Given the description of an element on the screen output the (x, y) to click on. 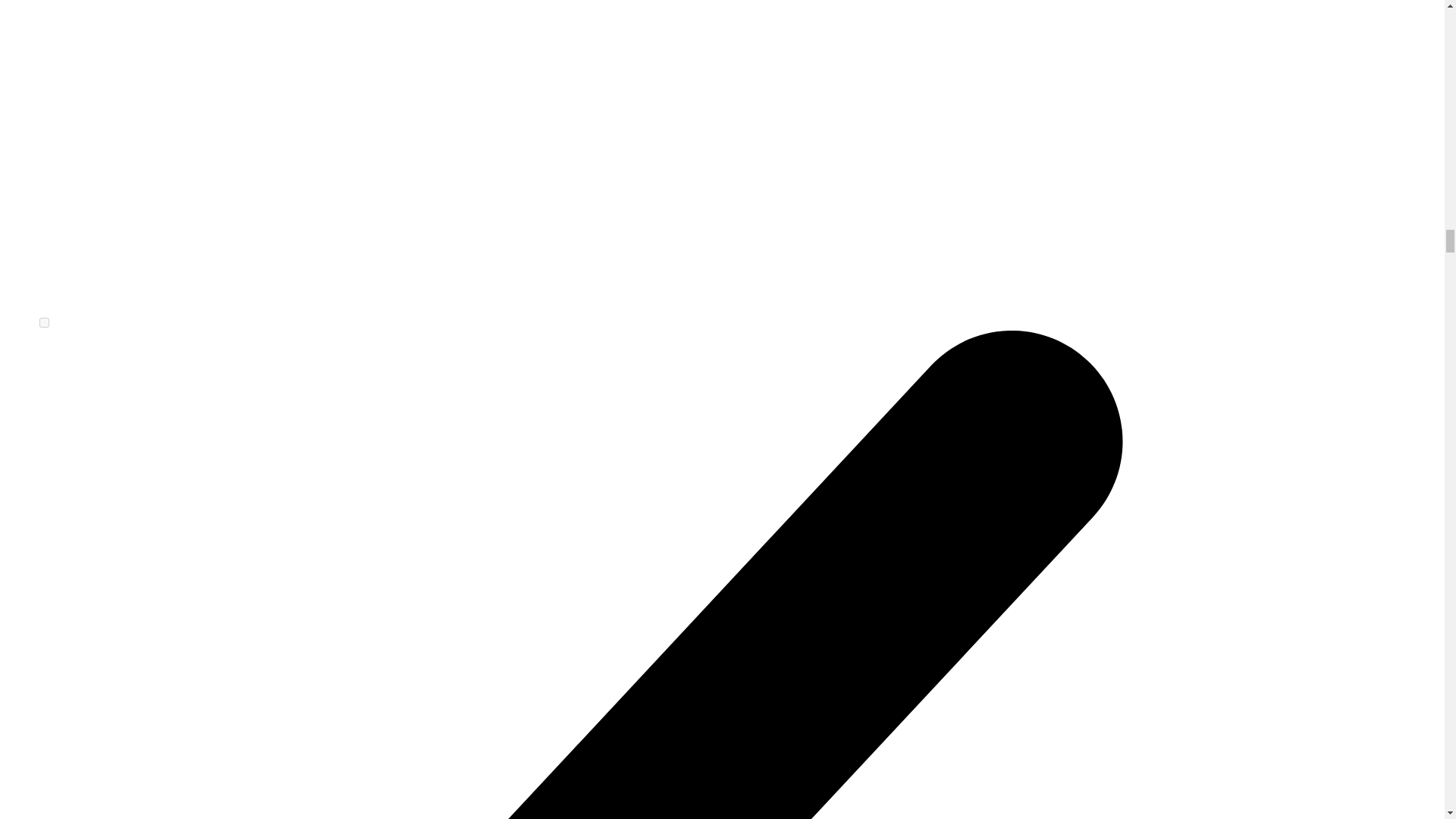
on (44, 322)
